Given the description of an element on the screen output the (x, y) to click on. 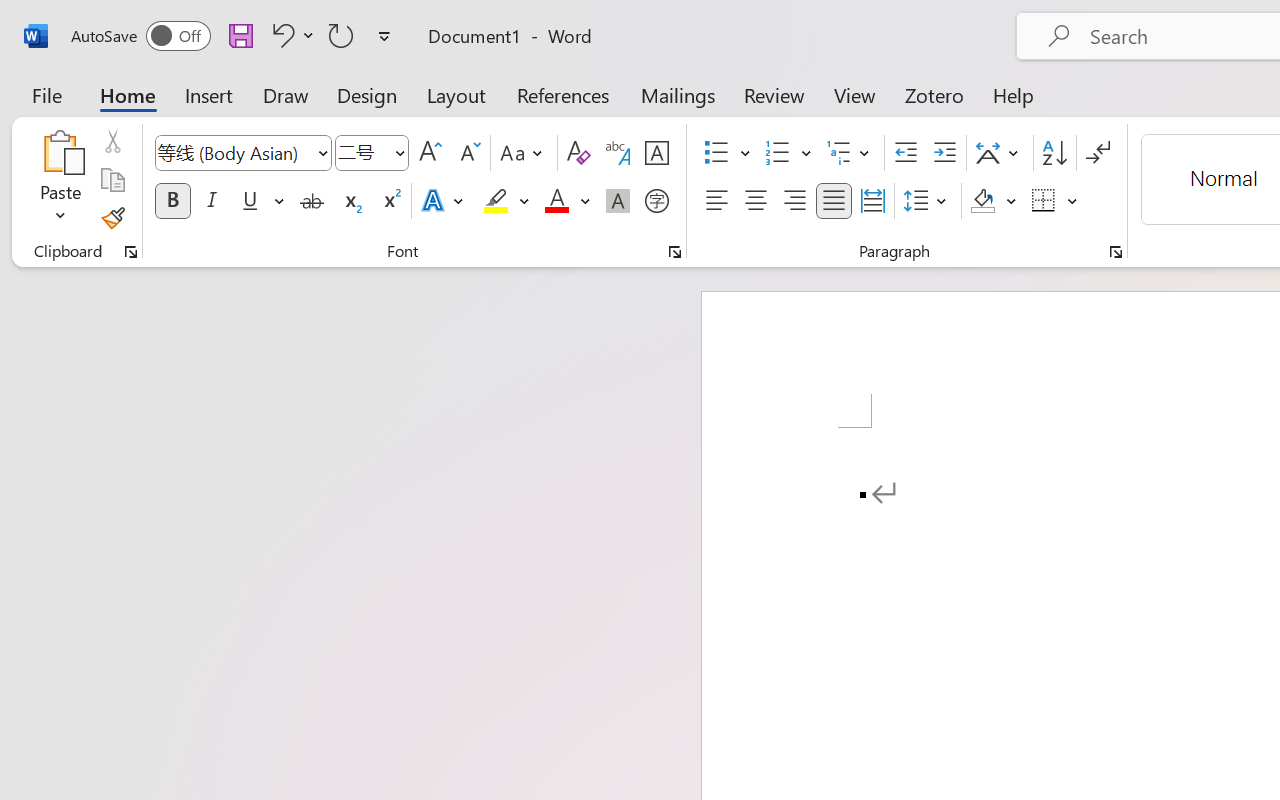
Repeat Style (341, 35)
Undo Apply Quick Style (290, 35)
